Given the description of an element on the screen output the (x, y) to click on. 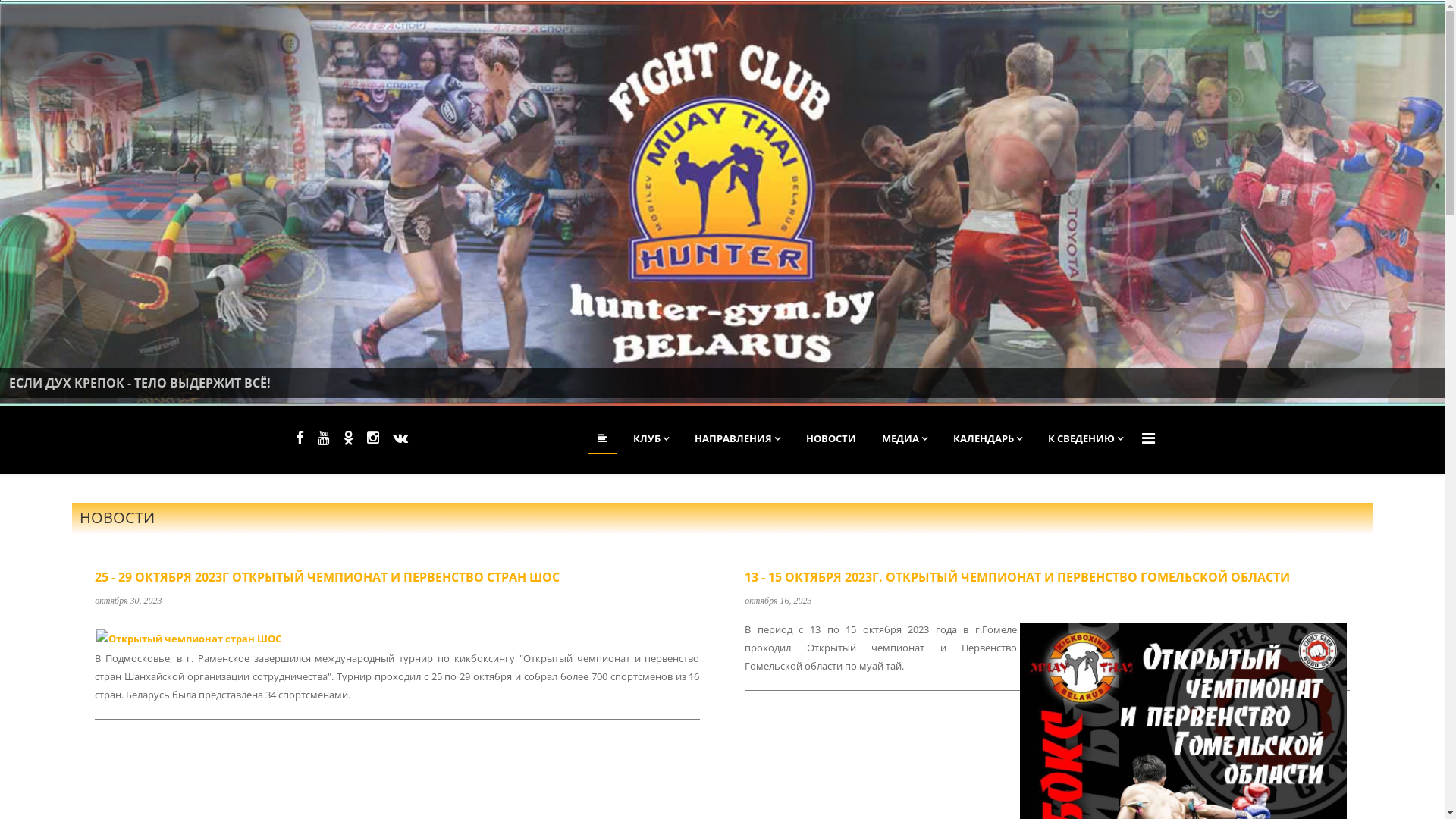
Menu Element type: hover (1148, 437)
